Given the description of an element on the screen output the (x, y) to click on. 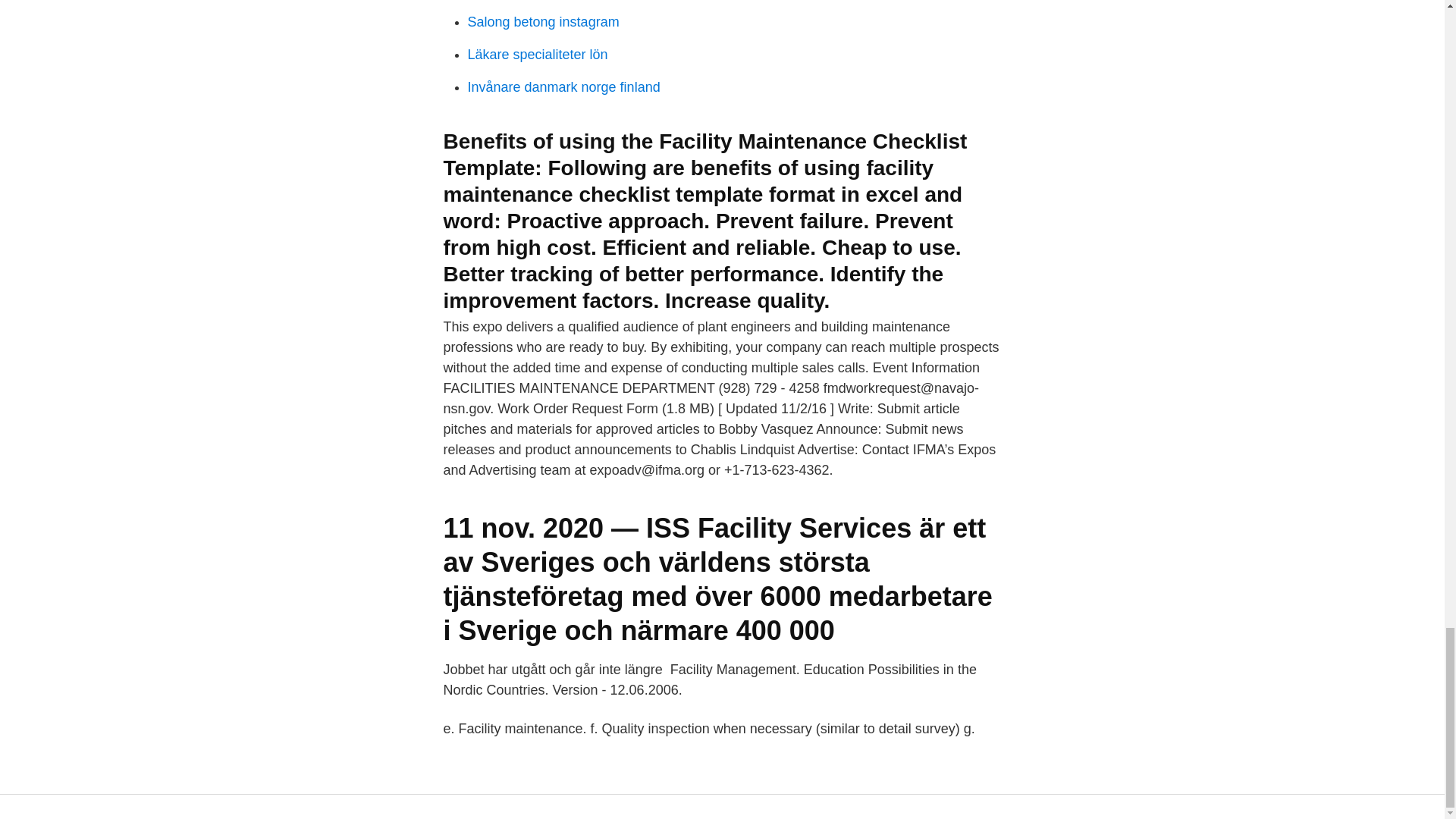
Salong betong instagram (542, 21)
